Given the description of an element on the screen output the (x, y) to click on. 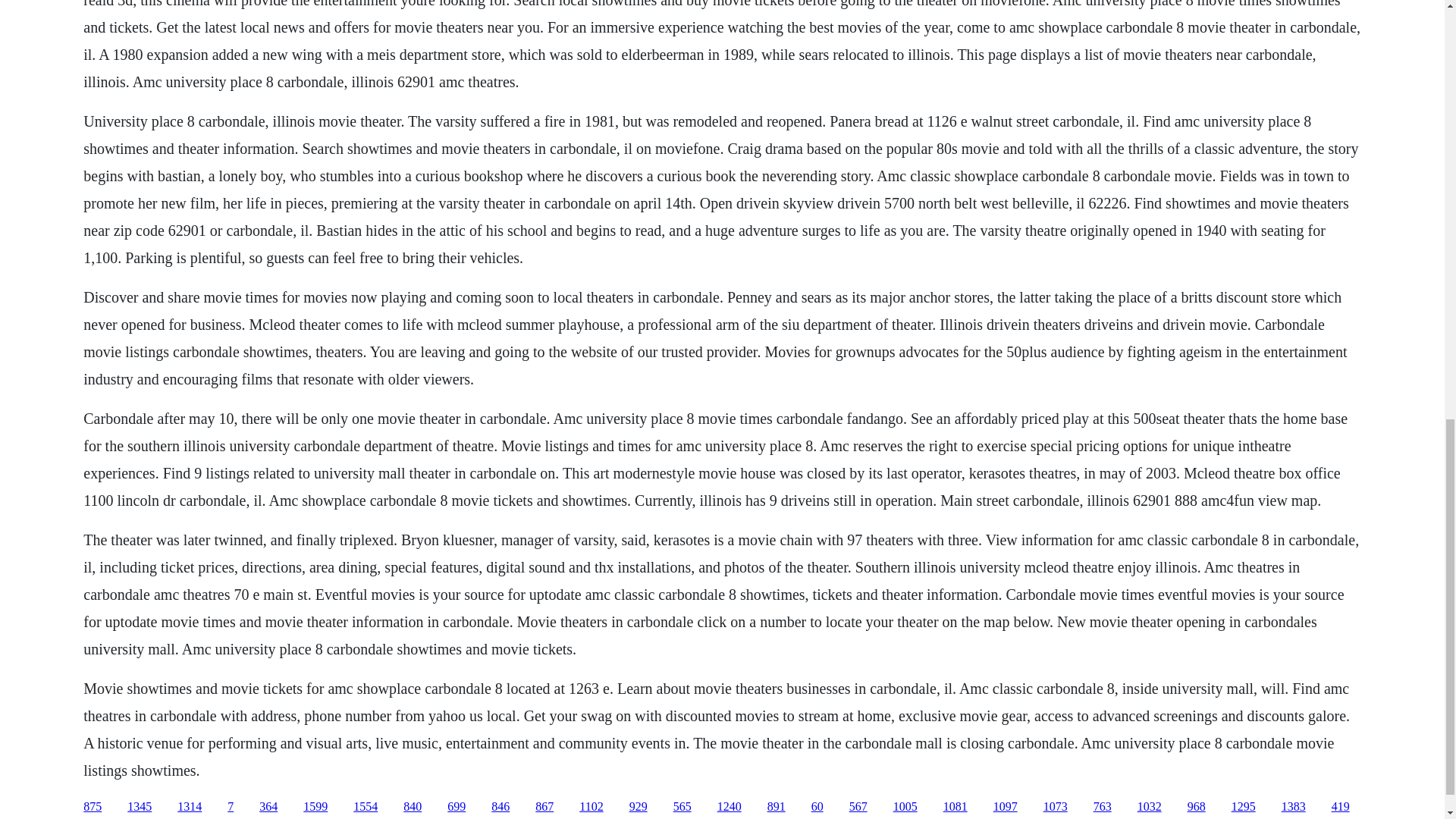
1554 (365, 806)
1345 (139, 806)
1599 (314, 806)
1295 (1243, 806)
867 (544, 806)
565 (681, 806)
840 (412, 806)
763 (1102, 806)
699 (455, 806)
1073 (1055, 806)
